Given the description of an element on the screen output the (x, y) to click on. 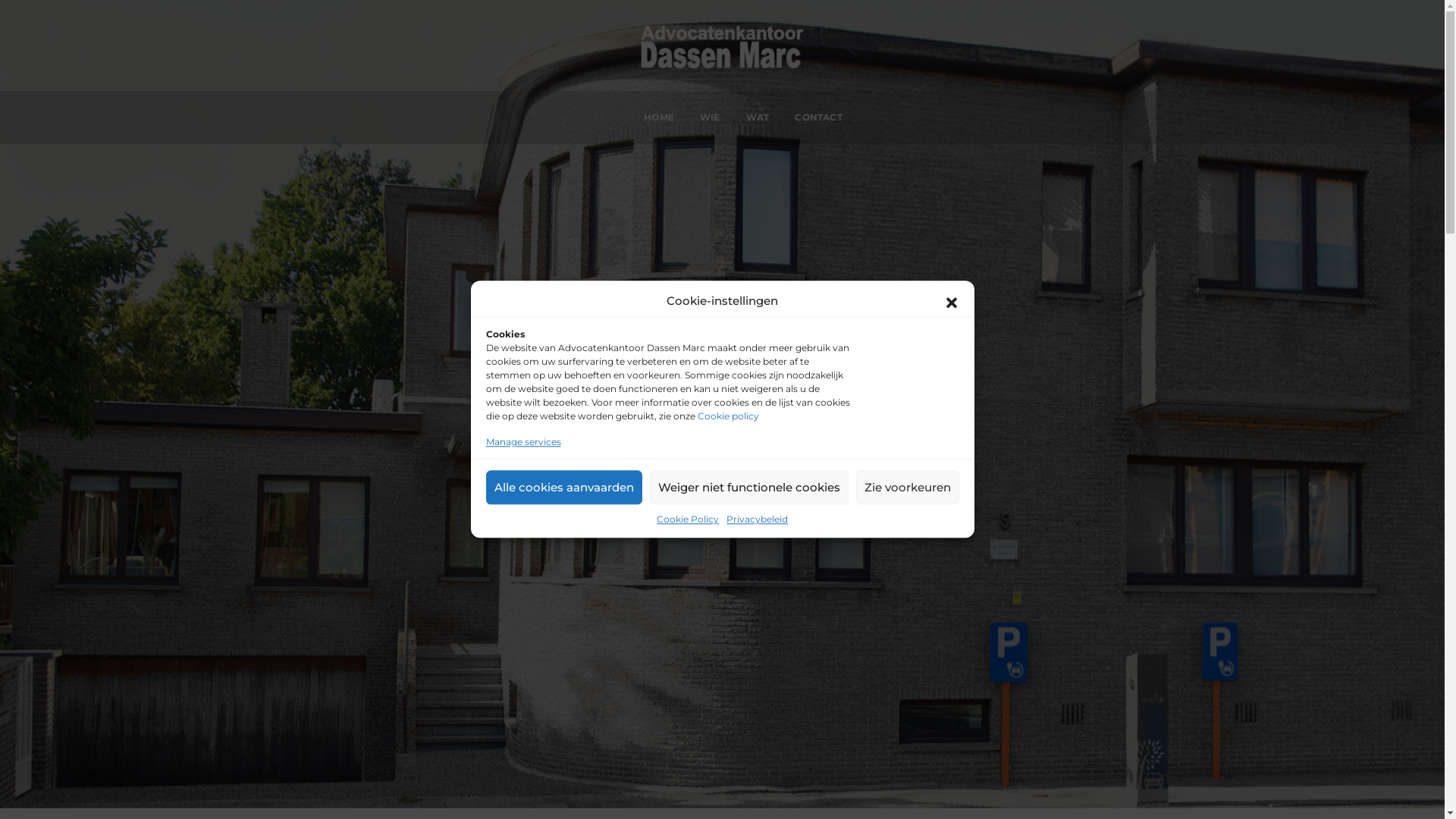
Alle cookies aanvaarden Element type: text (563, 487)
Cookie policy Element type: text (728, 415)
HOME Element type: text (658, 117)
WAT Element type: text (757, 117)
Cookie Policy Element type: text (687, 519)
Privacybeleid Element type: text (756, 519)
Zie voorkeuren Element type: text (906, 487)
Manage services Element type: text (522, 441)
CONTACT Element type: text (817, 117)
Weiger niet functionele cookies Element type: text (748, 487)
WIE Element type: text (709, 117)
